Given the description of an element on the screen output the (x, y) to click on. 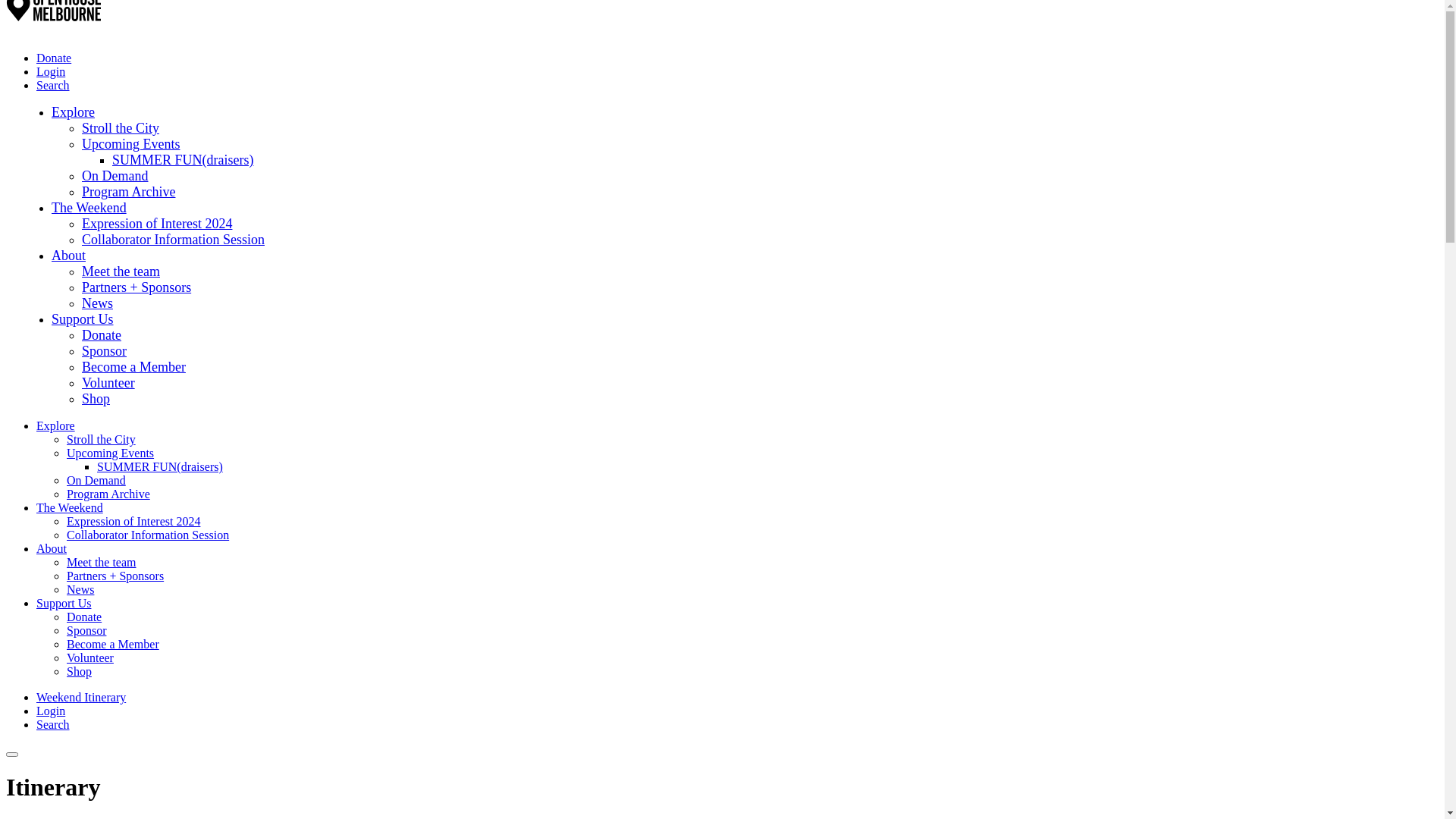
Meet the team Element type: text (101, 561)
Search Element type: text (52, 84)
Become a Member Element type: text (112, 643)
About Element type: text (68, 255)
Expression of Interest 2024 Element type: text (133, 520)
Stroll the City Element type: text (100, 439)
Explore Element type: text (55, 425)
Shop Element type: text (95, 398)
Upcoming Events Element type: text (109, 452)
Explore Element type: text (72, 111)
Support Us Element type: text (82, 318)
Expression of Interest 2024 Element type: text (156, 223)
Shop Element type: text (78, 671)
Program Archive Element type: text (108, 493)
Meet the team Element type: text (120, 271)
Donate Element type: text (83, 616)
Skip to content Element type: text (5, 5)
News Element type: text (80, 589)
Stroll the City Element type: text (120, 127)
Volunteer Element type: text (107, 382)
Volunteer Element type: text (89, 657)
Program Archive Element type: text (128, 191)
Donate Element type: text (101, 334)
Login Element type: text (50, 71)
About Element type: text (51, 548)
On Demand Element type: text (95, 479)
The Weekend Element type: text (69, 507)
Partners + Sponsors Element type: text (136, 286)
Upcoming Events Element type: text (130, 143)
The Weekend Element type: text (88, 207)
SUMMER FUN(draisers) Element type: text (159, 466)
Partners + Sponsors Element type: text (114, 575)
Become a Member Element type: text (133, 366)
Sponsor Element type: text (103, 350)
Collaborator Information Session Element type: text (147, 534)
SUMMER FUN(draisers) Element type: text (183, 159)
Weekend Itinerary Element type: text (80, 696)
Search Element type: text (52, 724)
Sponsor Element type: text (86, 630)
News Element type: text (96, 302)
Collaborator Information Session Element type: text (172, 239)
Support Us Element type: text (63, 602)
On Demand Element type: text (114, 175)
Login Element type: text (50, 710)
Donate Element type: text (53, 57)
